Given the description of an element on the screen output the (x, y) to click on. 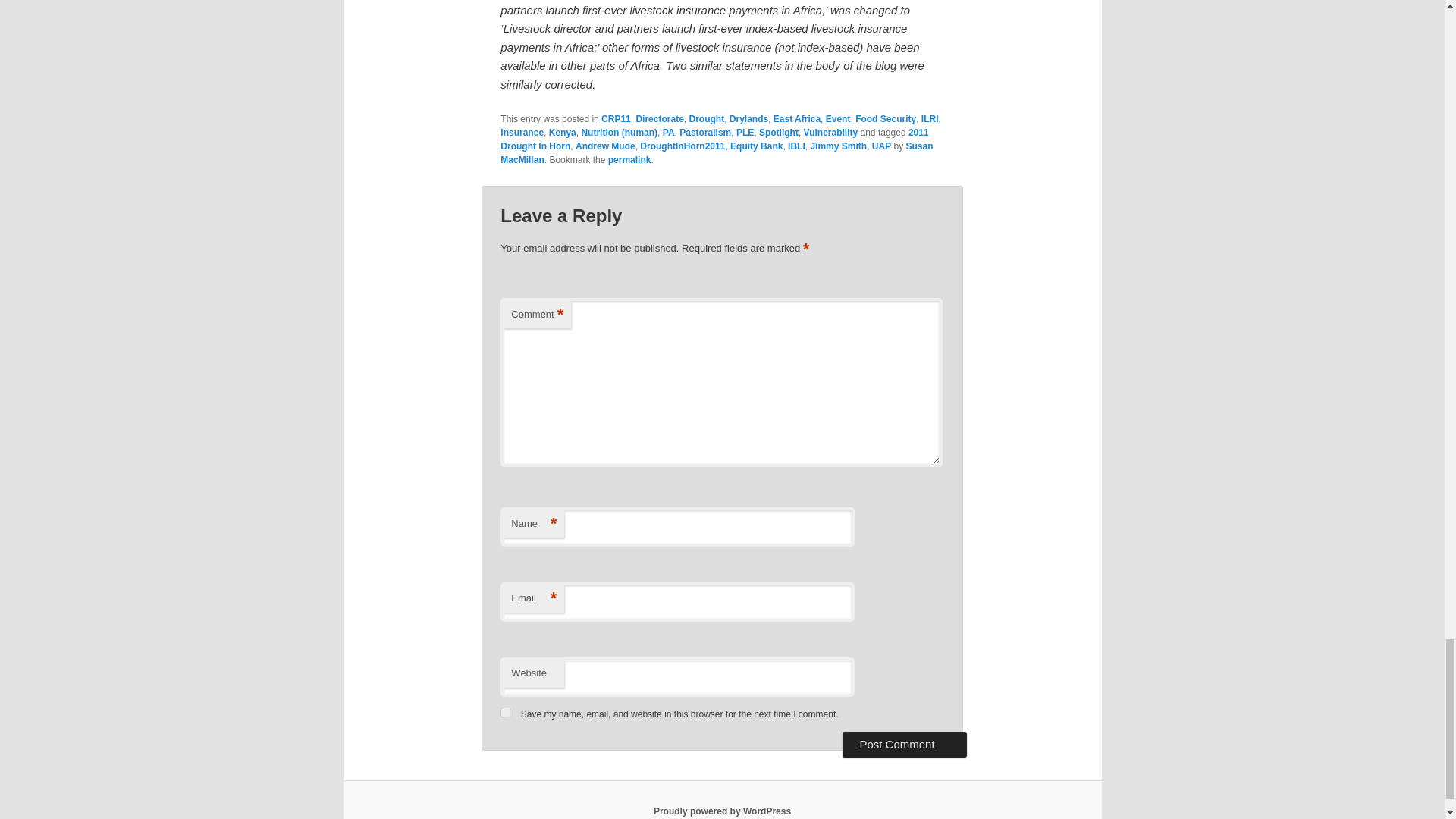
PA (668, 132)
Insurance (521, 132)
Pastoralism (704, 132)
Directorate (658, 118)
Drylands (748, 118)
Kenya (562, 132)
PLE (745, 132)
Food Security (885, 118)
Drought (705, 118)
ILRI (930, 118)
East Africa (797, 118)
CRP11 (615, 118)
Post Comment (904, 744)
Semantic Personal Publishing Platform (721, 810)
